Given the description of an element on the screen output the (x, y) to click on. 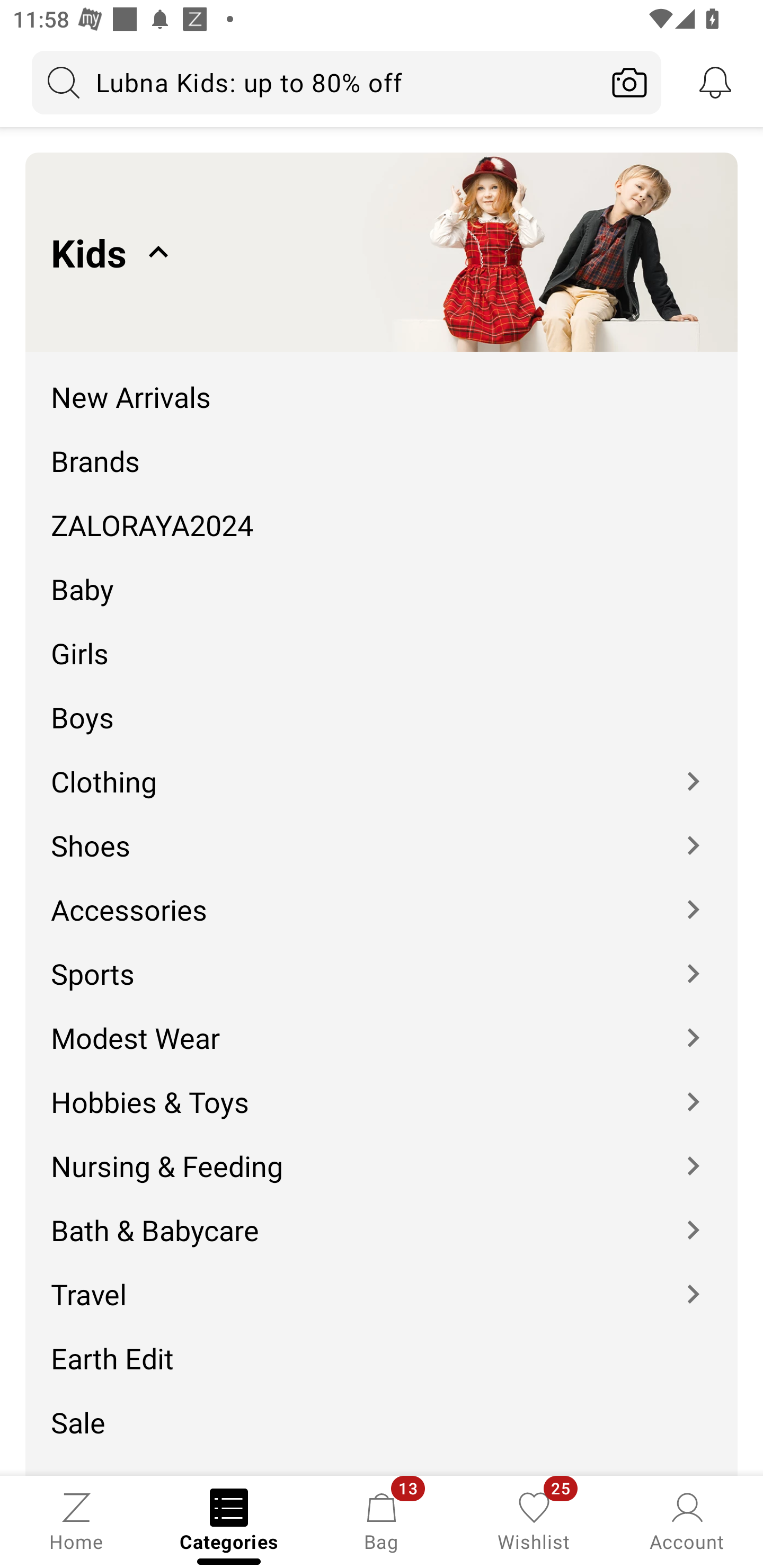
Lubna Kids: up to 80% off (314, 82)
Kids (381, 251)
New Arrivals (381, 383)
Brands (381, 447)
ZALORAYA2024 (381, 511)
Baby (381, 576)
Girls (381, 640)
Boys (381, 704)
Clothing (381, 767)
Shoes (381, 831)
Accessories (381, 895)
Sports (381, 960)
Modest Wear (381, 1024)
Hobbies & Toys (381, 1088)
Nursing & Feeding (381, 1153)
Bath & Babycare (381, 1217)
Travel (381, 1281)
Earth Edit (381, 1344)
Sale (381, 1408)
Home (76, 1519)
Bag, 13 new notifications Bag (381, 1519)
Wishlist, 25 new notifications Wishlist (533, 1519)
Account (686, 1519)
